Given the description of an element on the screen output the (x, y) to click on. 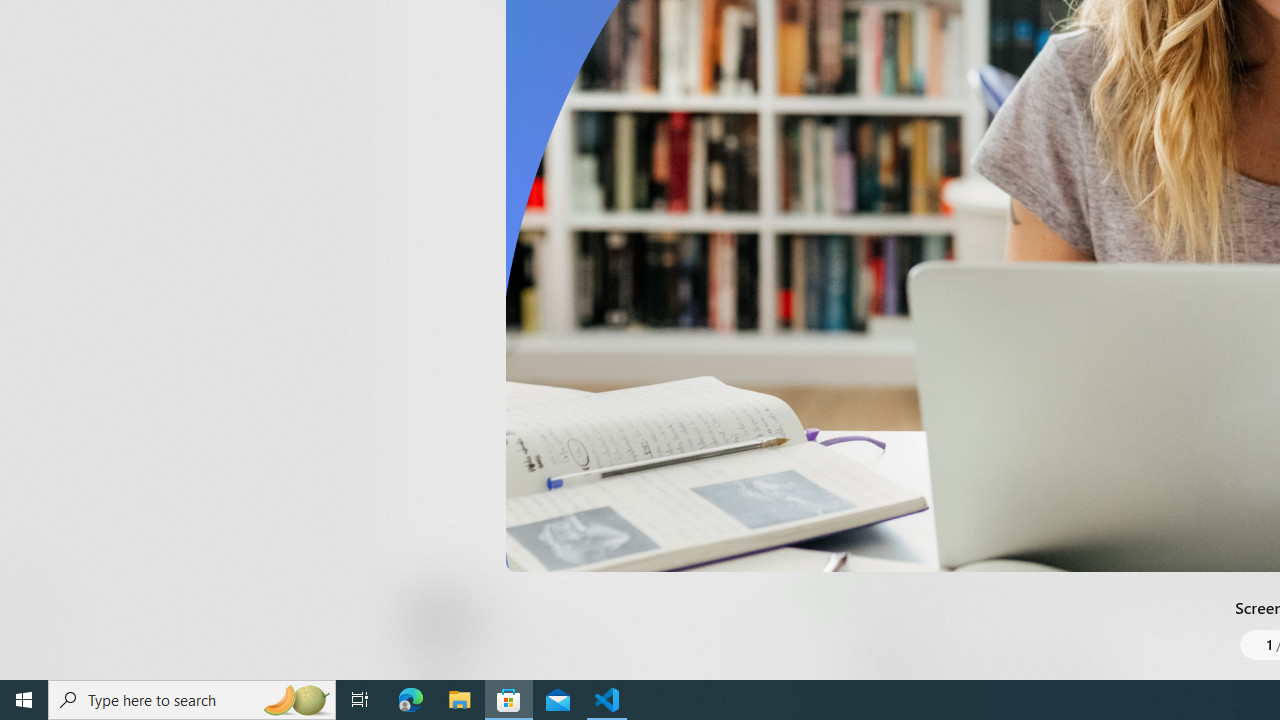
Show all ratings and reviews (838, 454)
Share (746, 632)
Show more (854, 31)
Social (579, 23)
Age rating: TEEN. Click for more information. (488, 619)
